Given the description of an element on the screen output the (x, y) to click on. 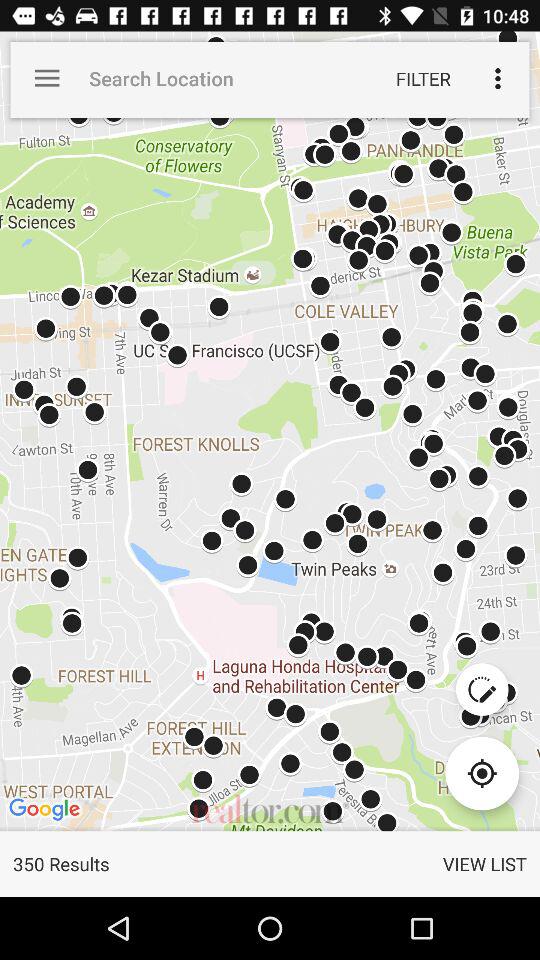
press the item next to the search location icon (423, 78)
